Given the description of an element on the screen output the (x, y) to click on. 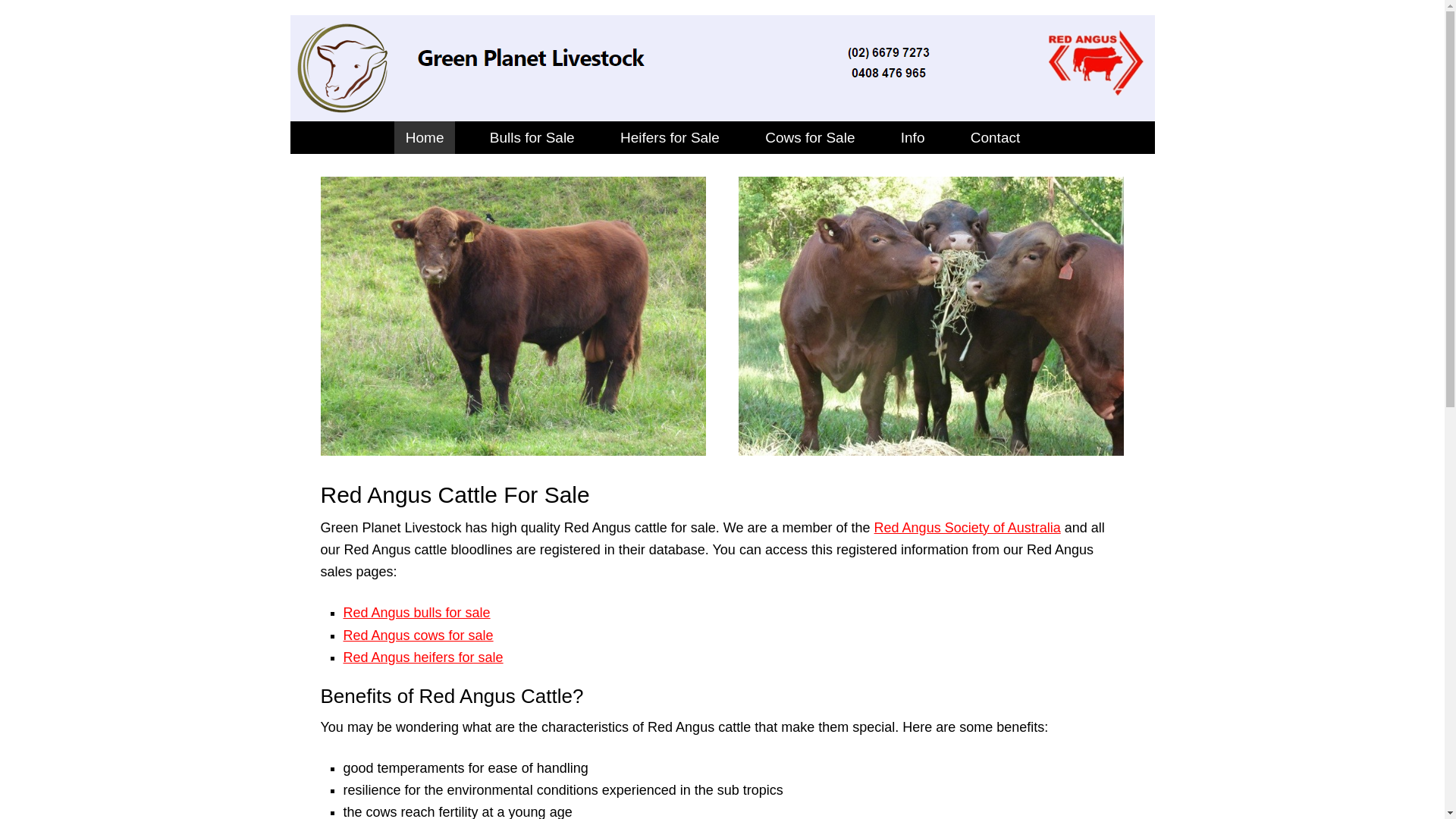
Red Angus bulls for sale Element type: text (415, 612)
Bulls for Sale Element type: text (532, 137)
Home Element type: text (424, 137)
Red Angus Society of Australia Element type: text (967, 527)
Cows for Sale Element type: text (809, 137)
Green Planet Livestock Element type: text (718, 111)
Red Angus heifers for sale Element type: text (422, 657)
Red Angus cows for sale Element type: text (417, 635)
Heifers for Sale Element type: text (669, 137)
Contact Element type: text (995, 137)
Info Element type: text (912, 137)
